Given the description of an element on the screen output the (x, y) to click on. 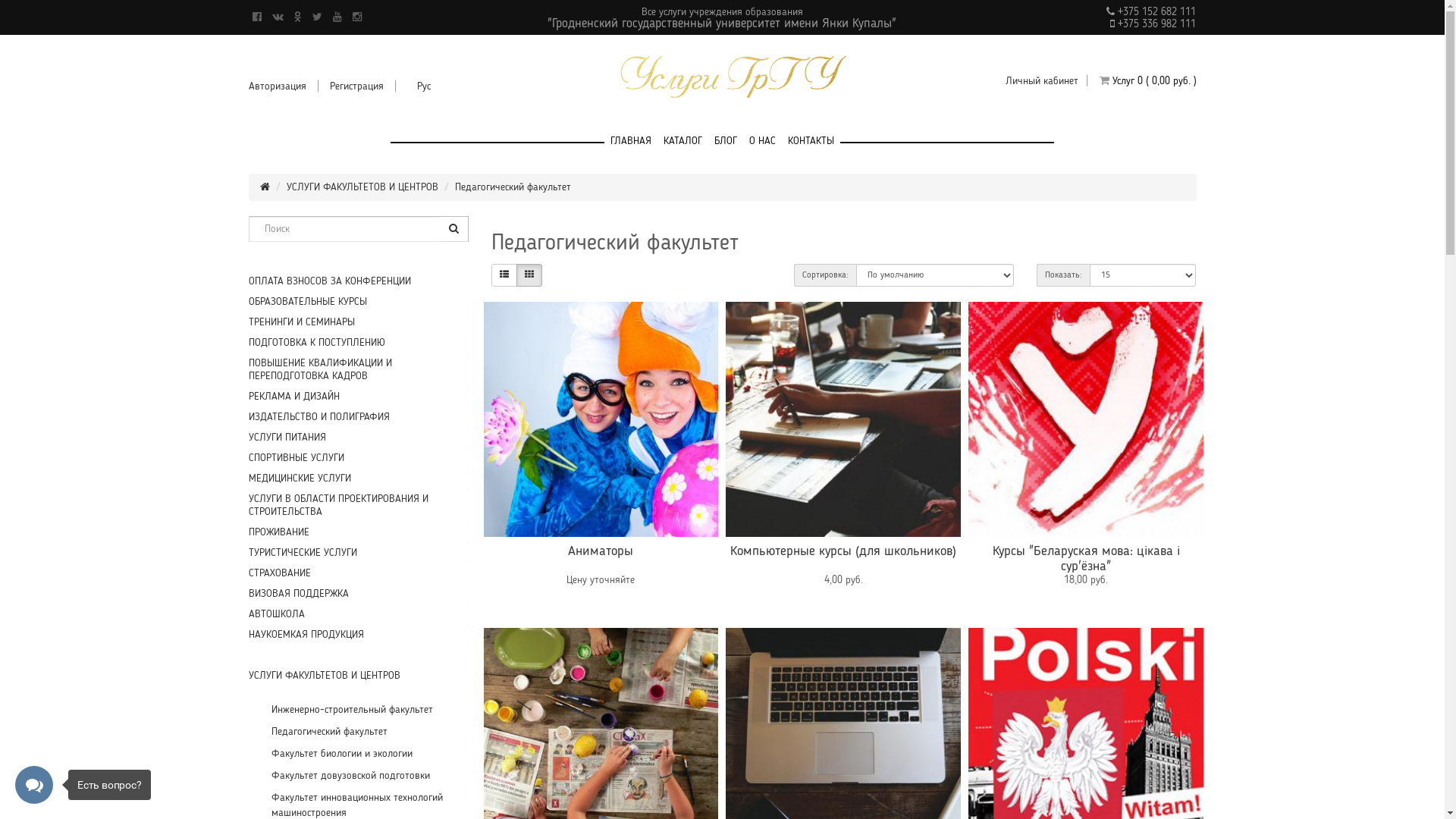
    Element type: text (252, 654)
+375 152 682 111 Element type: text (1154, 11)
+375 336 982 111 Element type: text (1154, 23)
